Given the description of an element on the screen output the (x, y) to click on. 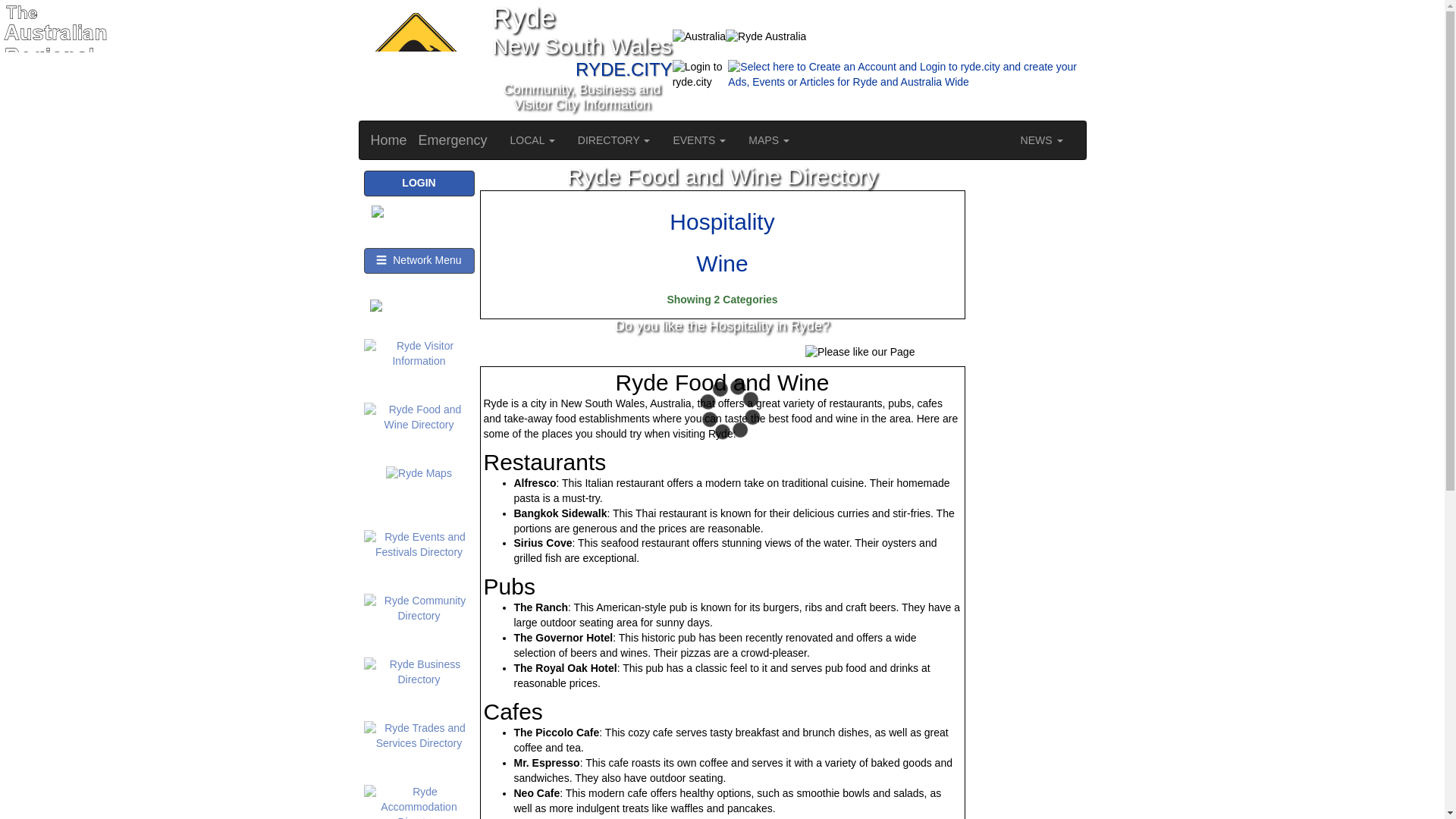
Please like our Page (859, 352)
Ryde Australia (765, 37)
Australia (698, 37)
LOCAL (532, 139)
Emergency (453, 139)
The Australian Regional Network (56, 111)
Home (389, 139)
Login to ryde.city (700, 74)
Ryde Skippycoin ICG (413, 59)
DIRECTORY (614, 139)
